Given the description of an element on the screen output the (x, y) to click on. 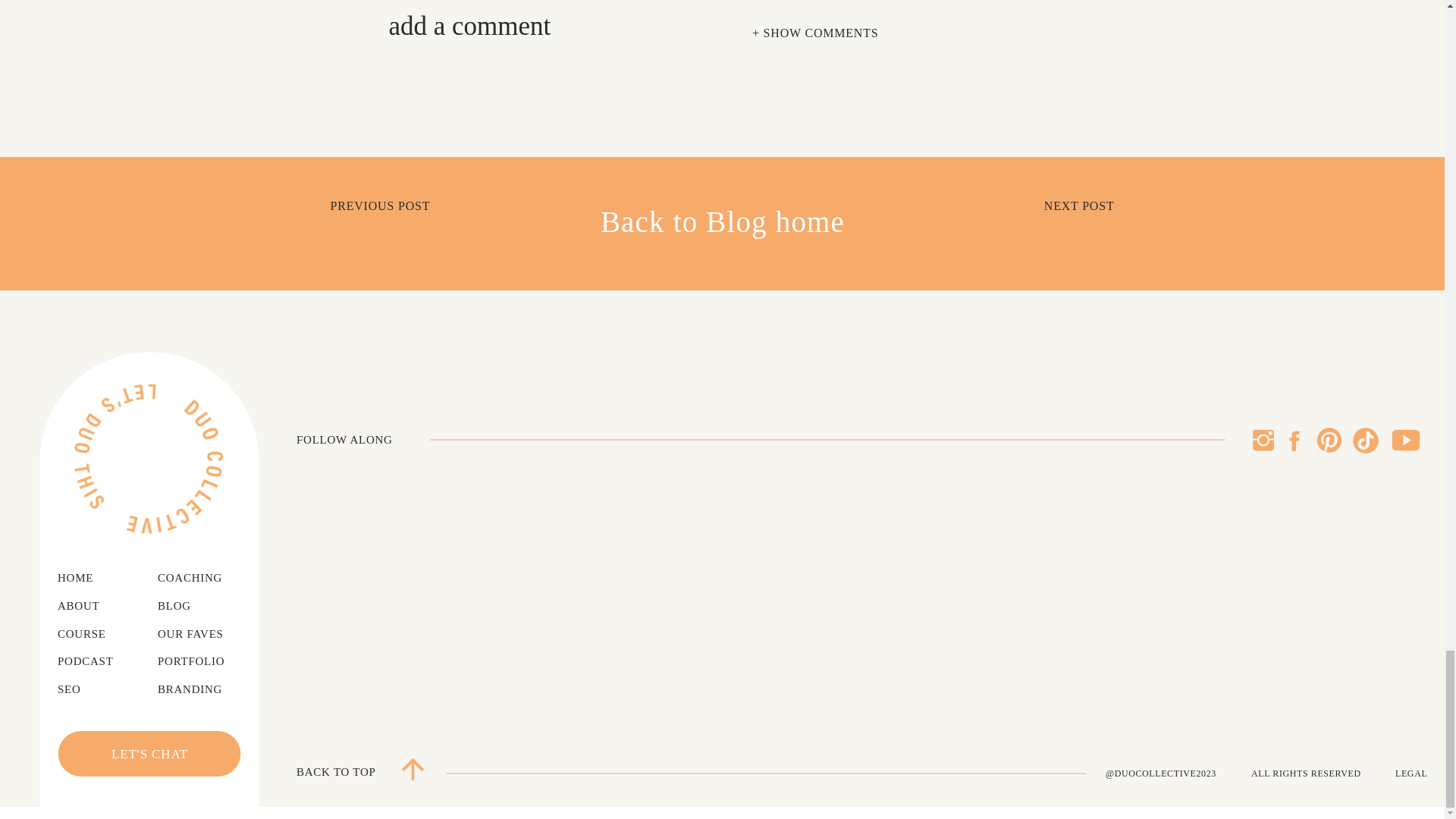
HOME (85, 578)
BLOG (178, 606)
Back to Blog home (722, 223)
ABOUT (88, 606)
BRANDING (200, 689)
OUR FAVES (200, 634)
COACHING (203, 578)
COURSE (91, 634)
